Given the description of an element on the screen output the (x, y) to click on. 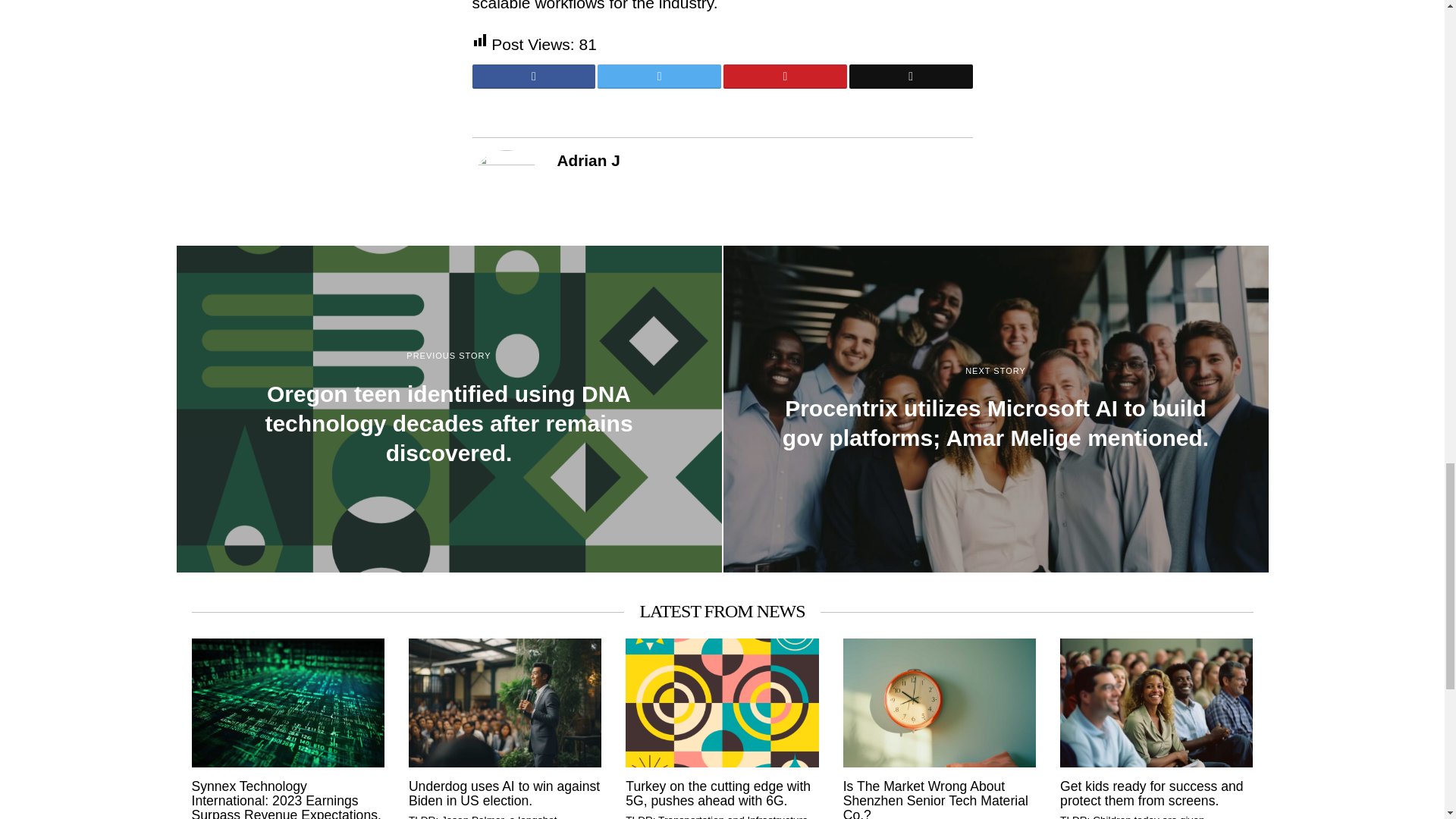
Adrian J (588, 159)
Is The Market Wrong About Shenzhen Senior Tech Material Co.? (939, 799)
Underdog uses AI to win against Biden in US election. (505, 794)
Get kids ready for success and protect them from screens. (1155, 794)
Turkey on the cutting edge with 5G, pushes ahead with 6G. (722, 794)
